Given the description of an element on the screen output the (x, y) to click on. 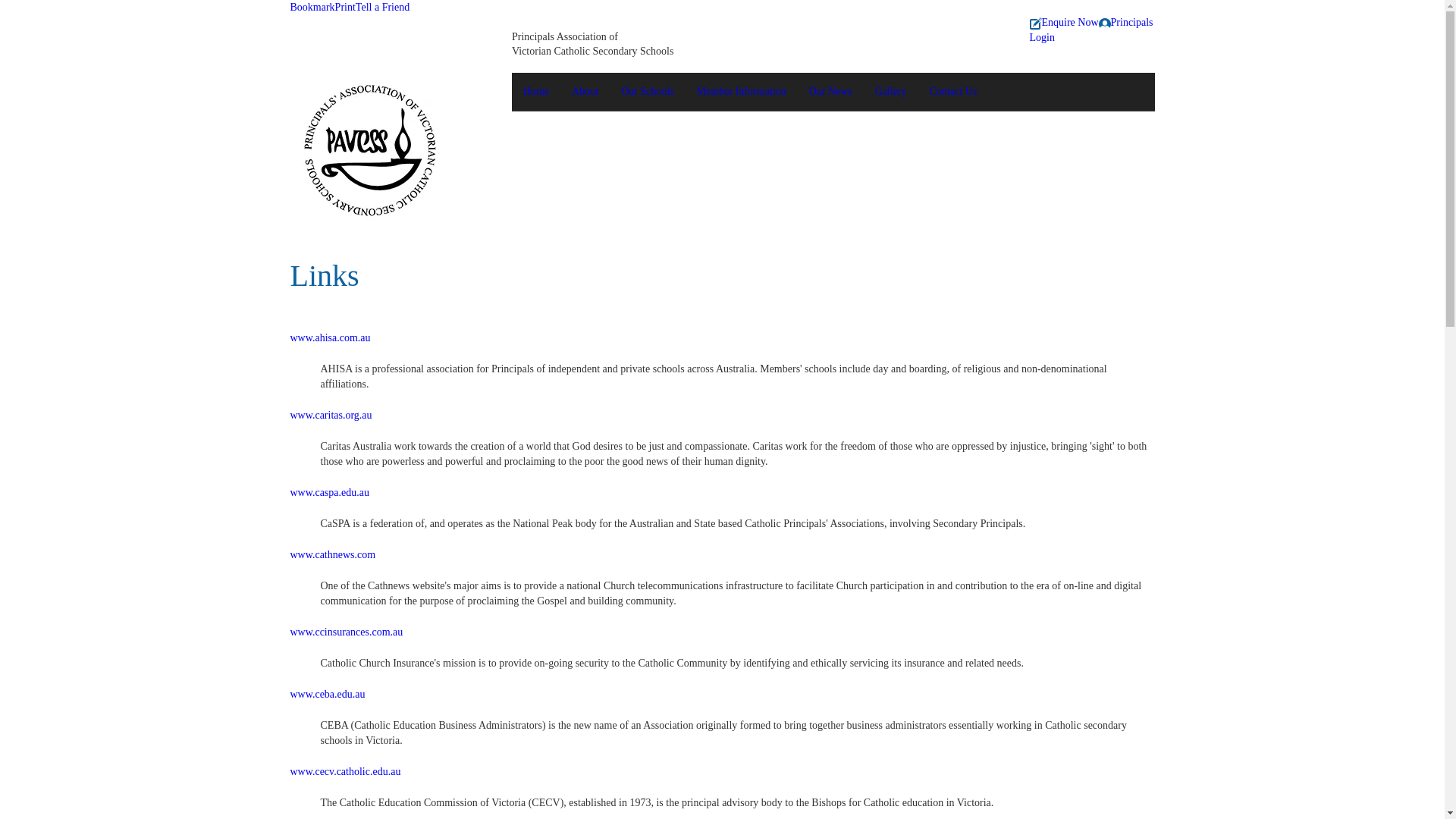
Our Schools Element type: text (647, 91)
www.cathnews.com Element type: text (332, 554)
Contact Us Element type: text (953, 91)
Member Information Element type: text (741, 91)
Bookmark Element type: text (311, 6)
Gallery Element type: text (890, 91)
www.caspa.edu.au Element type: text (328, 492)
About Element type: text (584, 91)
www.cecv.catholic.edu.au Element type: text (344, 771)
www.caritas.org.au Element type: text (330, 414)
Home Element type: text (535, 91)
Principals Login Element type: text (1091, 29)
www.ceba.edu.au Element type: text (326, 693)
www.ahisa.com.au Element type: text (329, 337)
Our News Element type: text (830, 91)
Enquire Now Element type: text (1063, 22)
www.ccinsurances.com.au Element type: text (345, 631)
Print Element type: text (345, 6)
Tell a Friend Element type: text (382, 6)
